Given the description of an element on the screen output the (x, y) to click on. 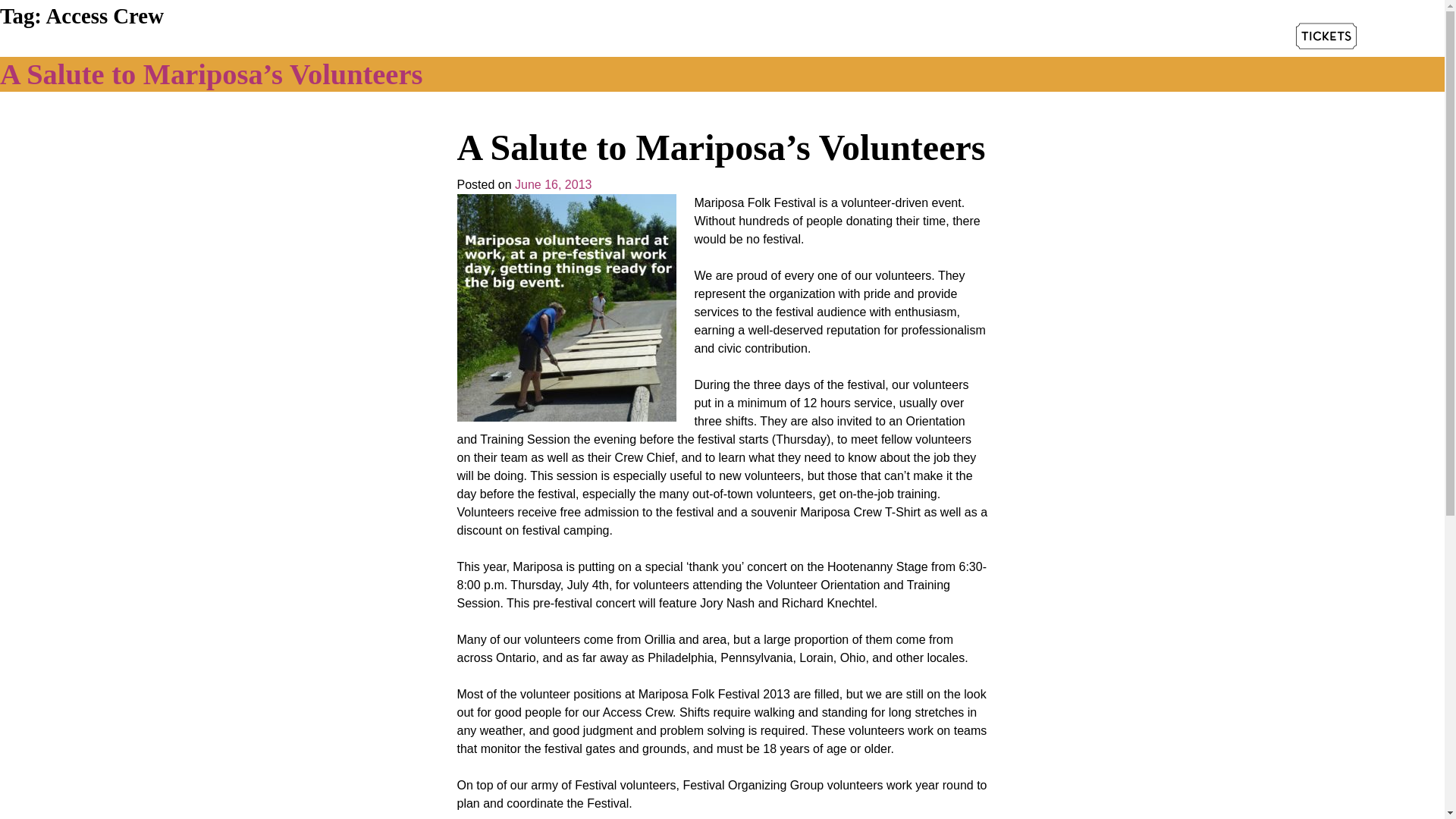
Our Stories (717, 38)
Lineup (460, 38)
Event Info (635, 38)
Mariposa Folk Festival (301, 64)
What Goes On (543, 38)
